Given the description of an element on the screen output the (x, y) to click on. 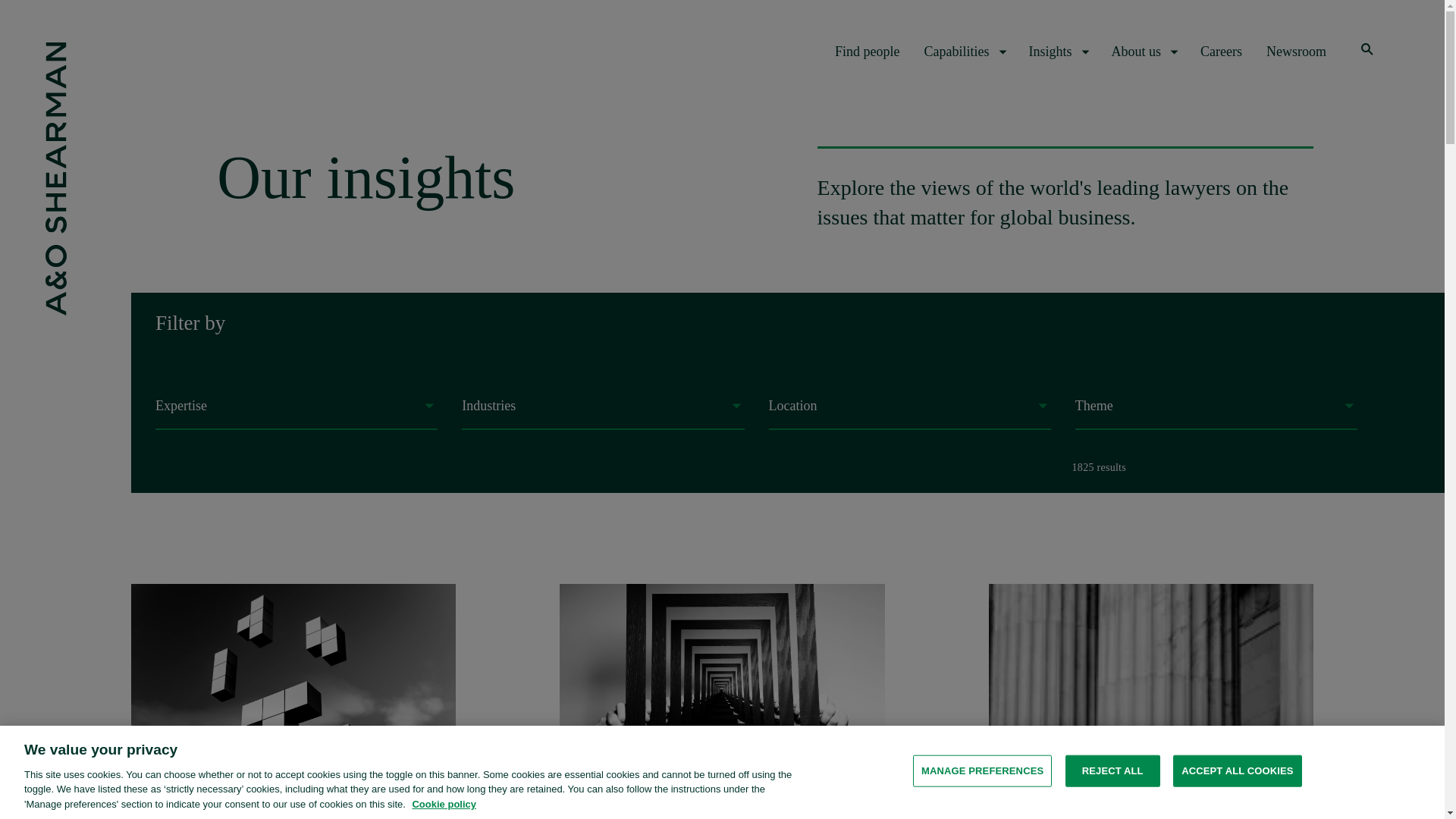
Capabilities (964, 51)
Careers (1220, 51)
Newsroom (1296, 51)
Insights (1056, 51)
About us (1144, 51)
Find people (866, 51)
